Given the description of an element on the screen output the (x, y) to click on. 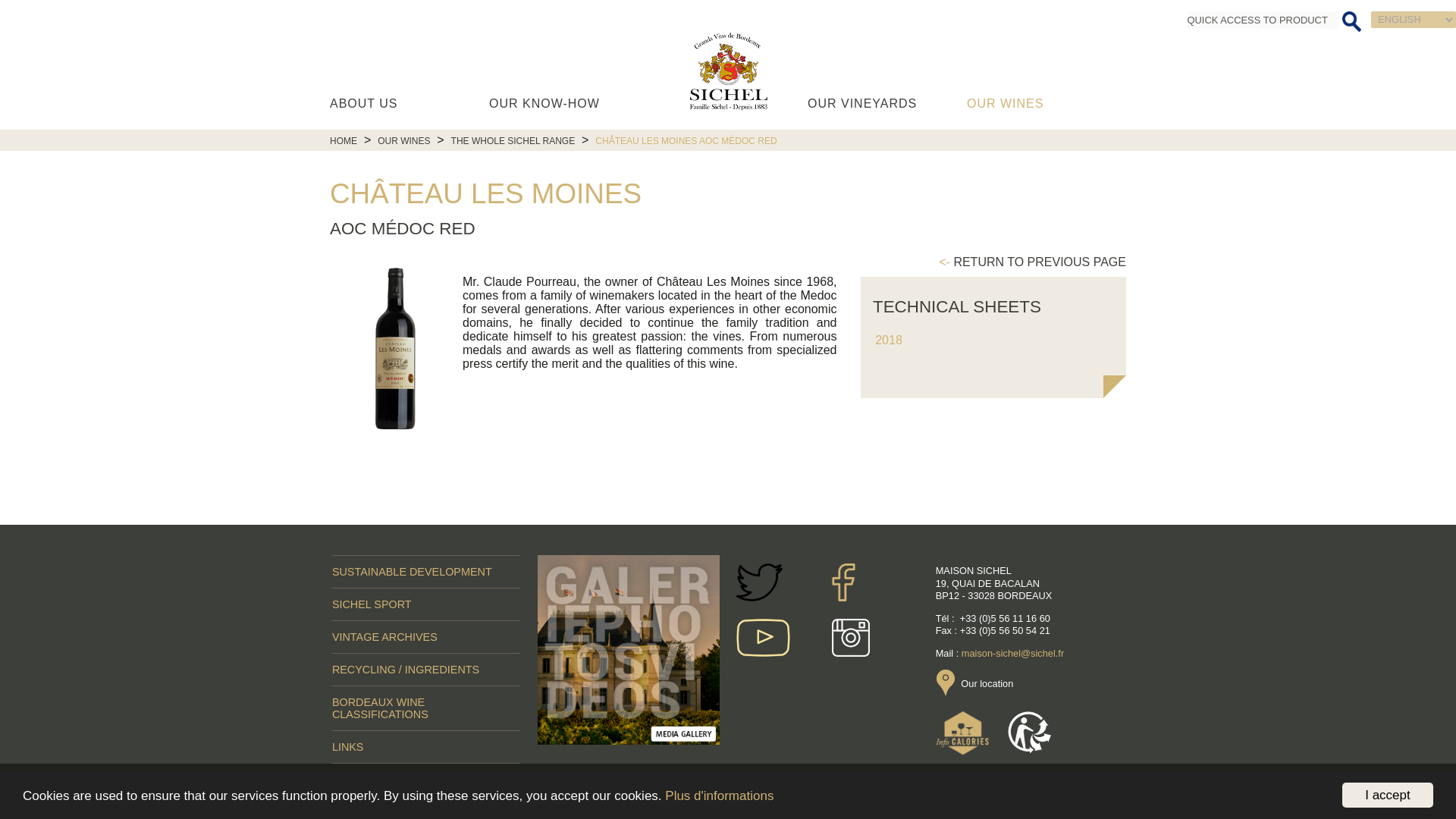
Legal Notice (633, 775)
Links (425, 746)
Vintage archives (425, 636)
BORDEAUX WINE CLASSIFICATIONS (425, 708)
VINTAGE ARCHIVES (425, 636)
OUR VINEYARDS (887, 103)
OUR WINES (1045, 103)
2018 (888, 339)
Sustainable development (425, 572)
Bordeaux wine classifications (425, 708)
